Given the description of an element on the screen output the (x, y) to click on. 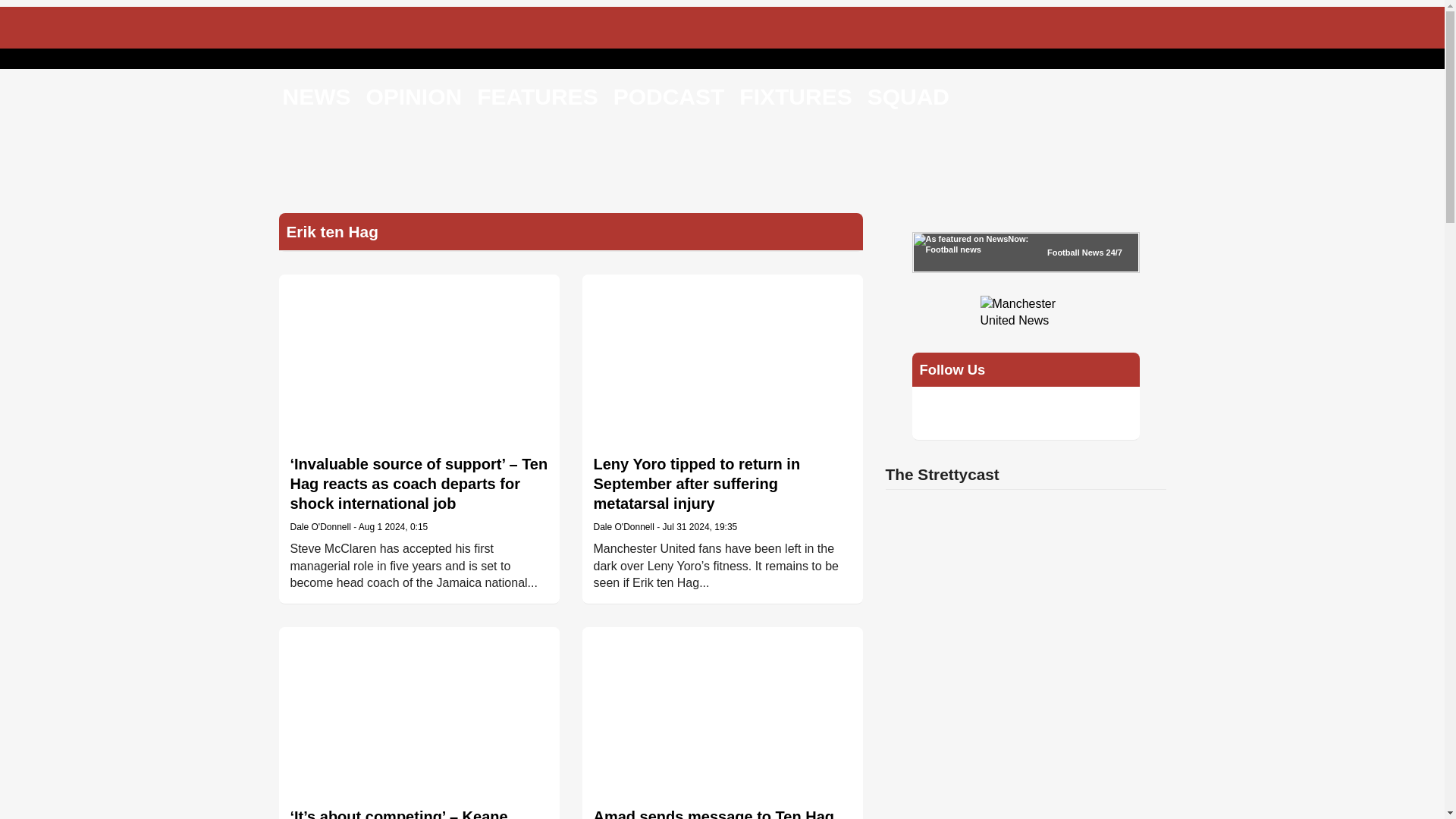
Search (975, 98)
Dale O'Donnell (319, 526)
Dale O'Donnell (622, 526)
Twitter (938, 413)
SQUAD (908, 95)
FEATURES (536, 95)
PODCAST (668, 95)
Facebook (978, 413)
Click here for more Football news from NewsNow (1024, 251)
OPINION (413, 95)
FIXTURES (795, 95)
Manchester United News (1024, 310)
NEWS (316, 95)
